Given the description of an element on the screen output the (x, y) to click on. 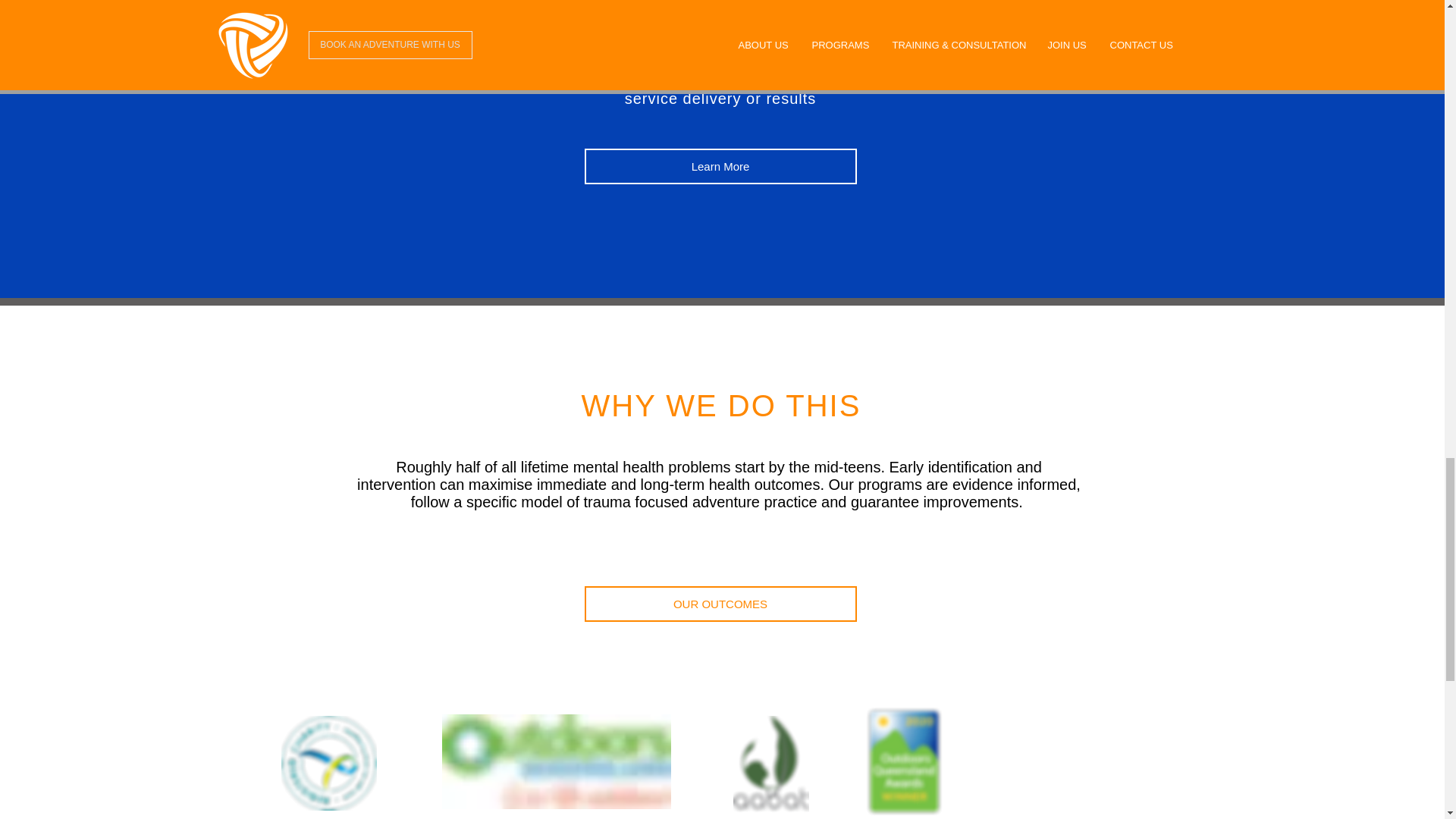
All Videos (722, 11)
Learn More (719, 166)
OUR OUTCOMES (719, 603)
